Given the description of an element on the screen output the (x, y) to click on. 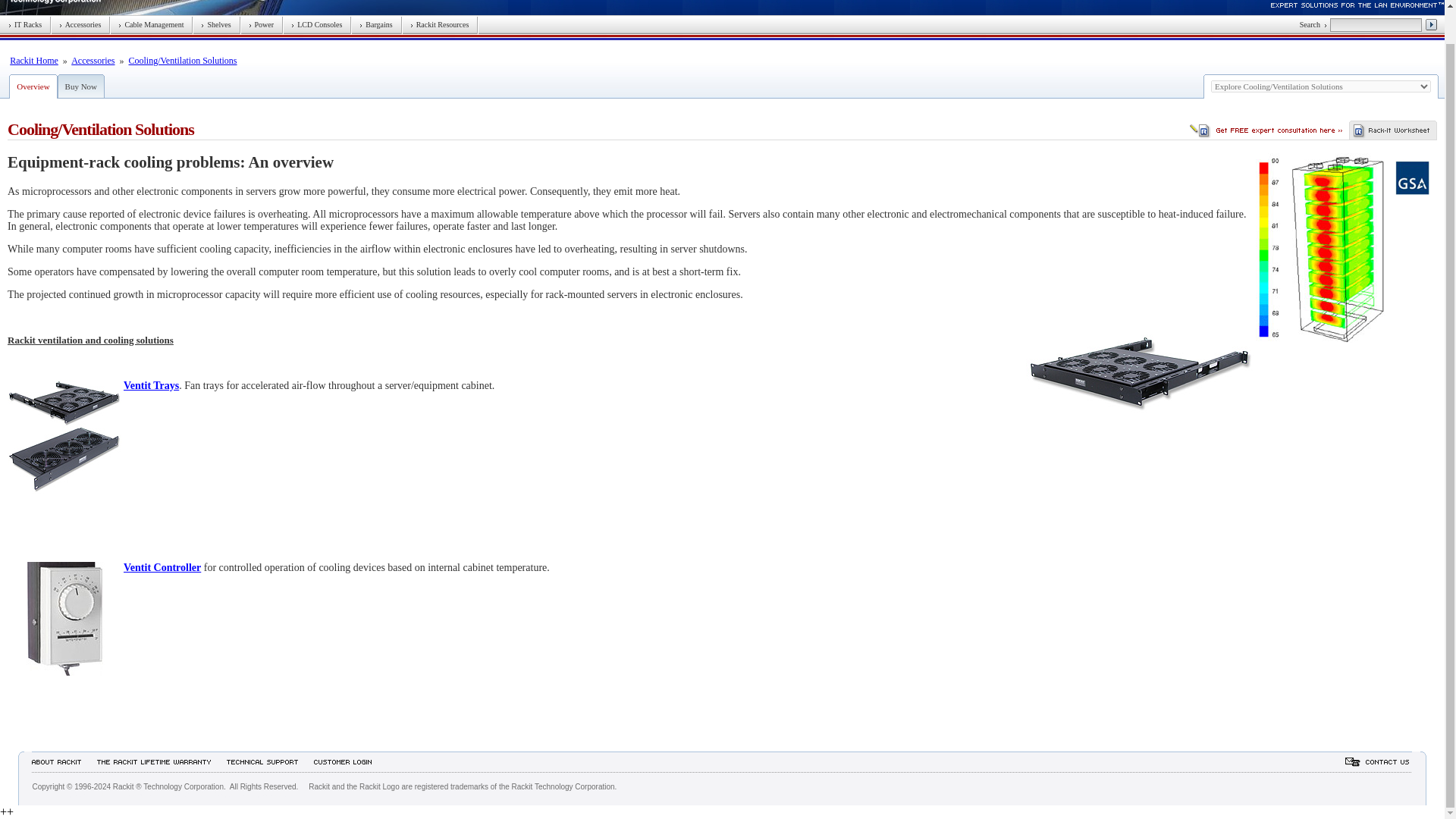
  Rackit Resources (439, 24)
Buy Now (81, 85)
Ventit Controller (63, 618)
  LCD Consoles (316, 24)
  IT Racks (25, 24)
Ventit Fan Trays (63, 436)
  Power (261, 24)
  Accessories (79, 24)
Government Sales (1412, 177)
  Cable Management (150, 24)
Rackit Home (34, 60)
  Bargains (375, 24)
Ventit Trays (151, 385)
Ventit Controller (161, 567)
  Shelves (215, 24)
